Given the description of an element on the screen output the (x, y) to click on. 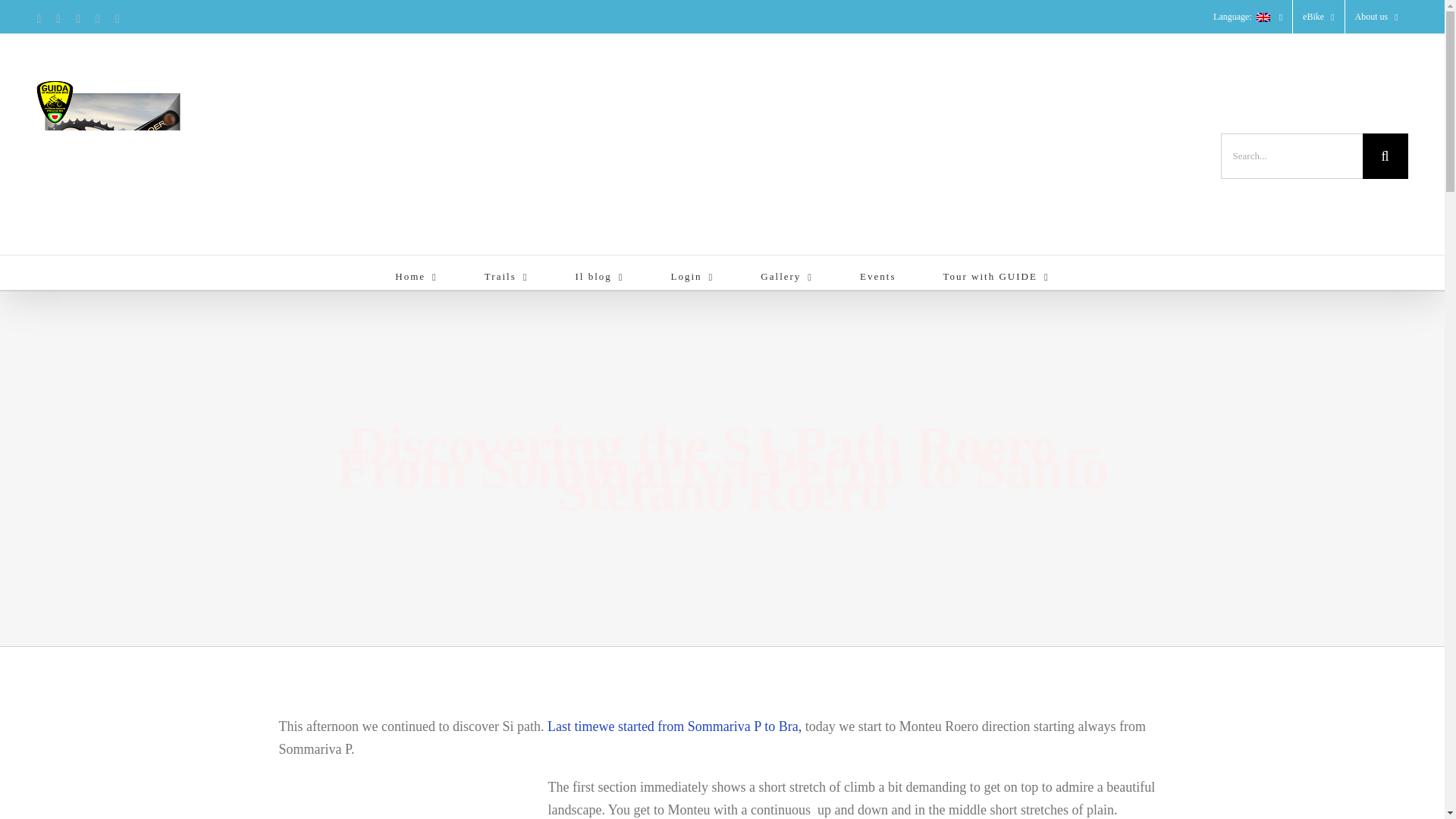
eBike (1317, 16)
Login (692, 272)
Trails (506, 272)
Gallery (786, 272)
Il blog (599, 272)
About us (1376, 16)
English (1248, 16)
Language:  (1248, 16)
Home (416, 272)
